Given the description of an element on the screen output the (x, y) to click on. 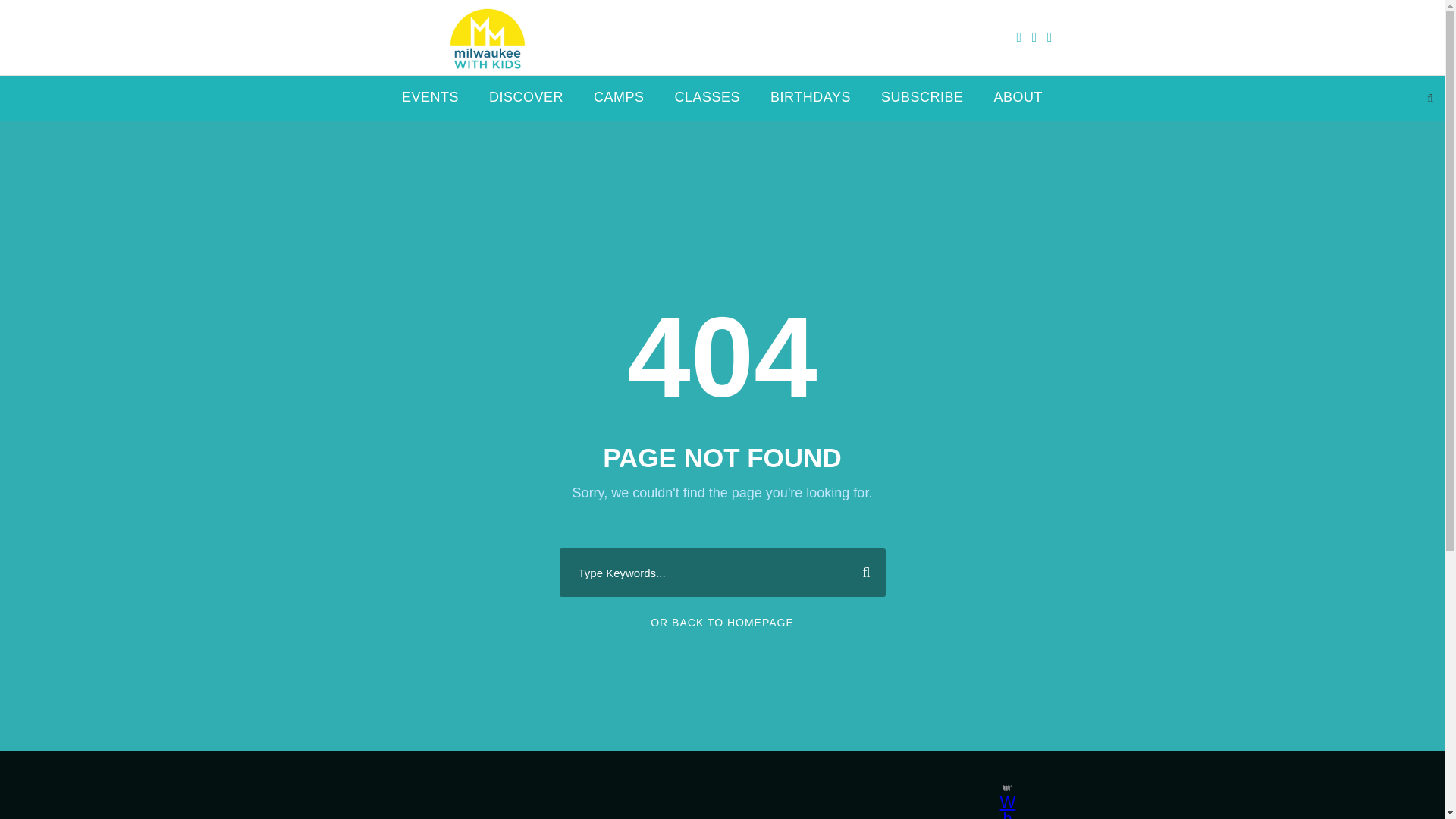
OR BACK TO HOMEPAGE (721, 622)
ABOUT (1017, 102)
EVENTS (429, 102)
BIRTHDAYS (810, 102)
CAMPS (619, 102)
3rd party ad content (708, 785)
SUBSCRIBE (921, 102)
DISCOVER (526, 102)
CLASSES (708, 102)
Search (860, 572)
